Given the description of an element on the screen output the (x, y) to click on. 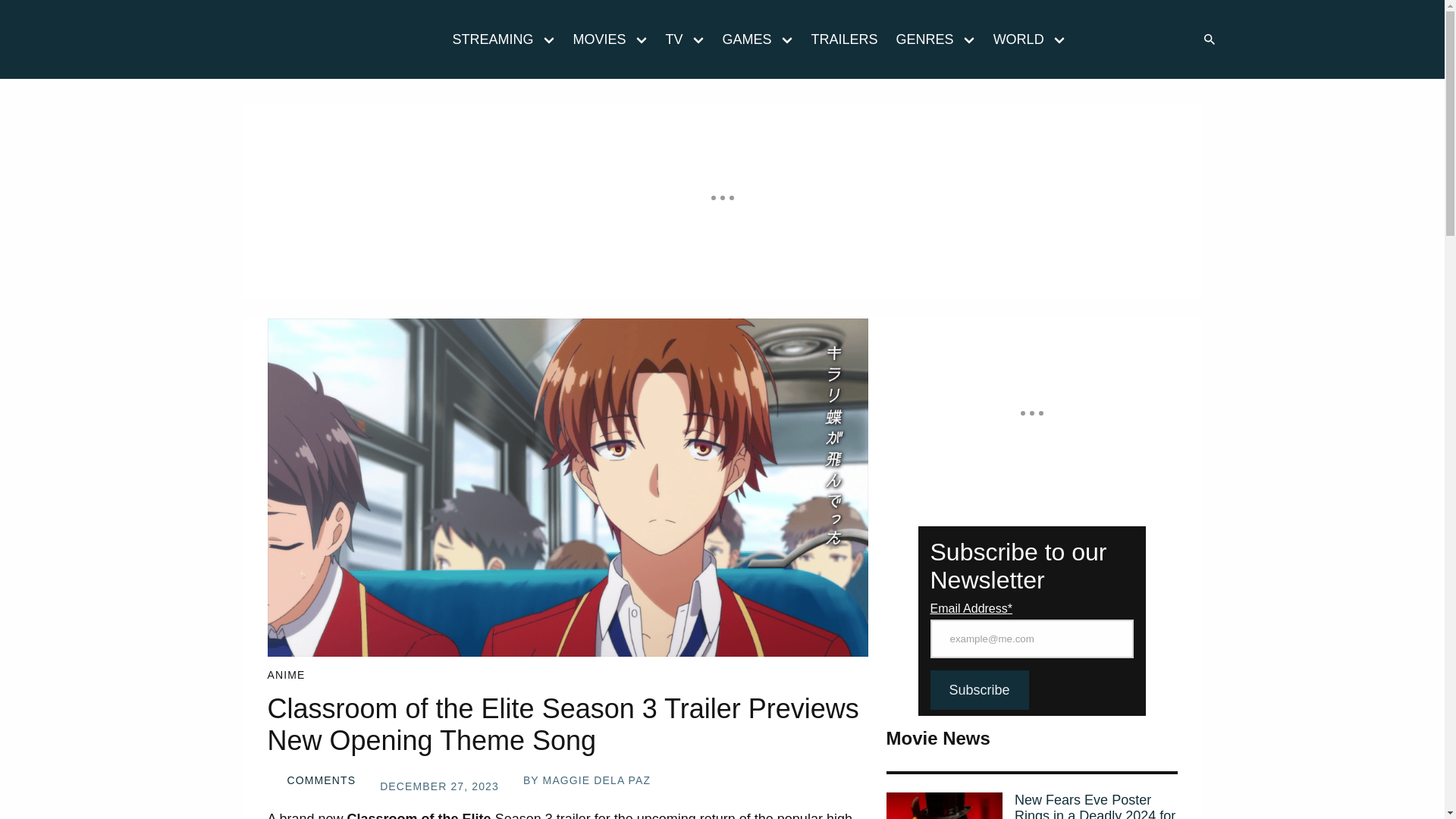
GENRES (919, 39)
MOVIES (595, 39)
Open menu (968, 39)
Open menu (641, 39)
Open menu (786, 39)
Open menu (697, 39)
STREAMING (487, 39)
GAMES (742, 39)
TRAILERS (844, 39)
Open menu (549, 39)
